Given the description of an element on the screen output the (x, y) to click on. 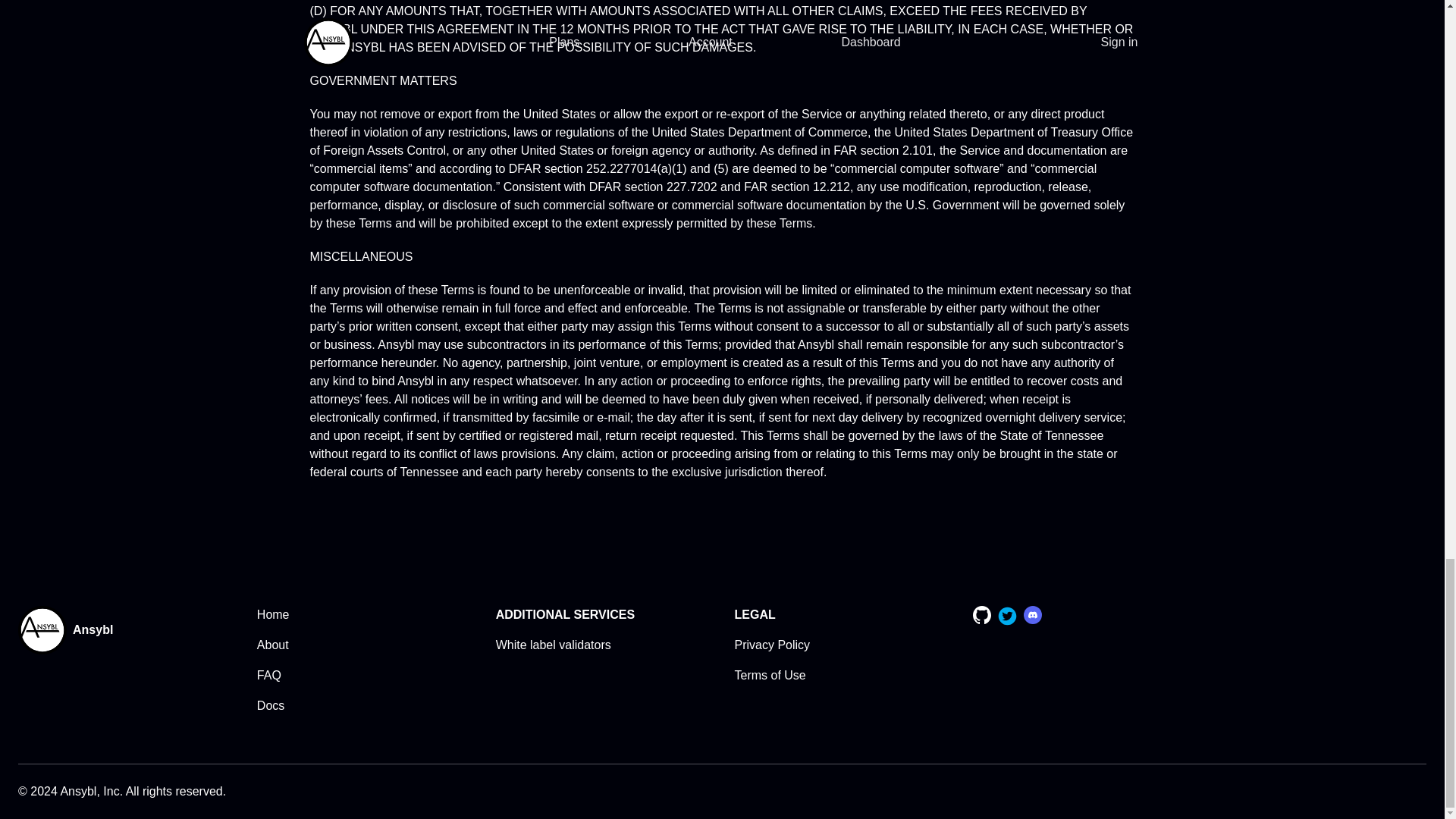
Ansybl (88, 630)
Terms of Use (769, 675)
Home (273, 614)
Docs (270, 705)
White label validators (553, 644)
About (272, 644)
Privacy Policy (771, 644)
FAQ (269, 675)
